Given the description of an element on the screen output the (x, y) to click on. 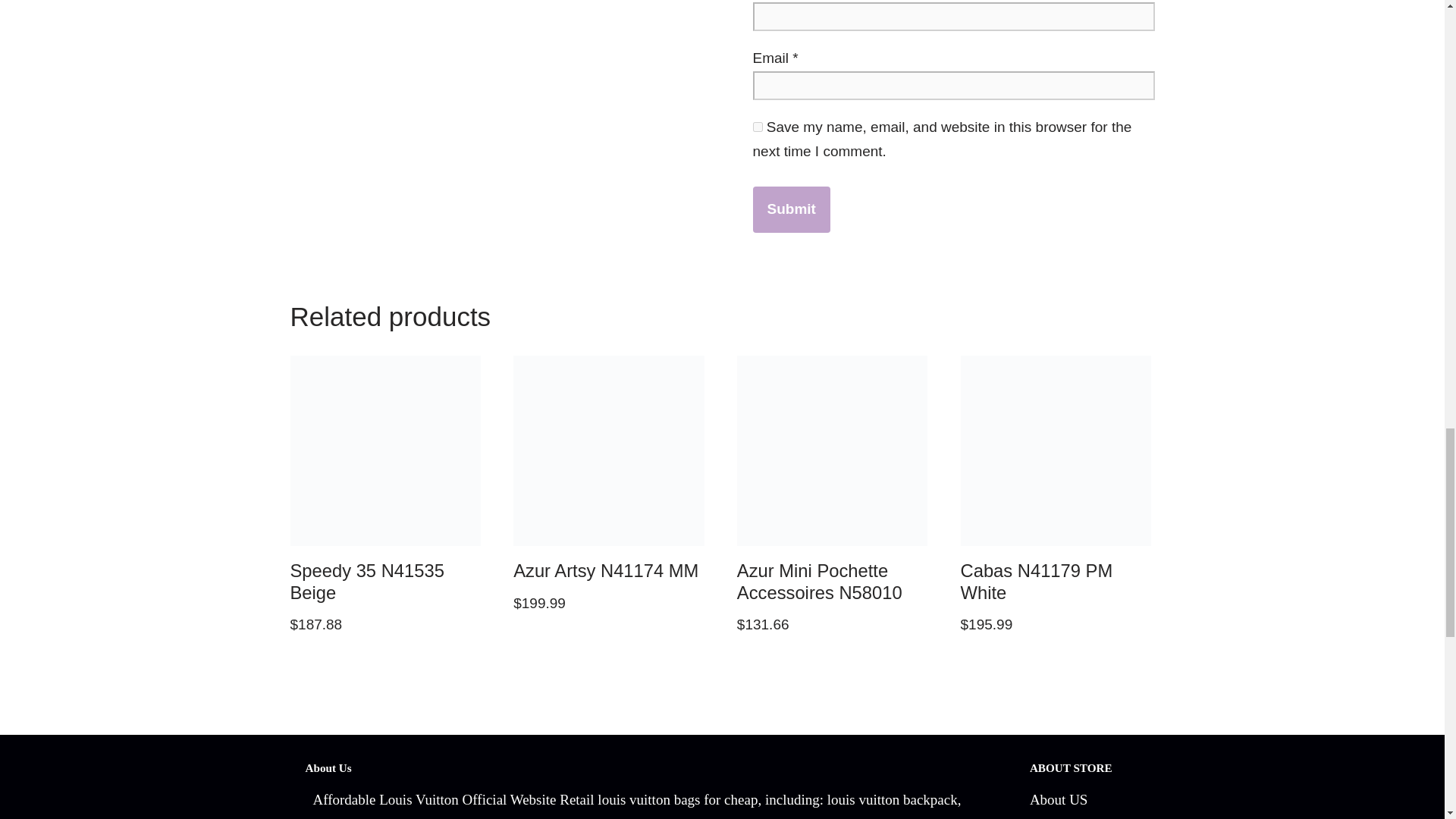
Submit (790, 208)
yes (756, 126)
